Given the description of an element on the screen output the (x, y) to click on. 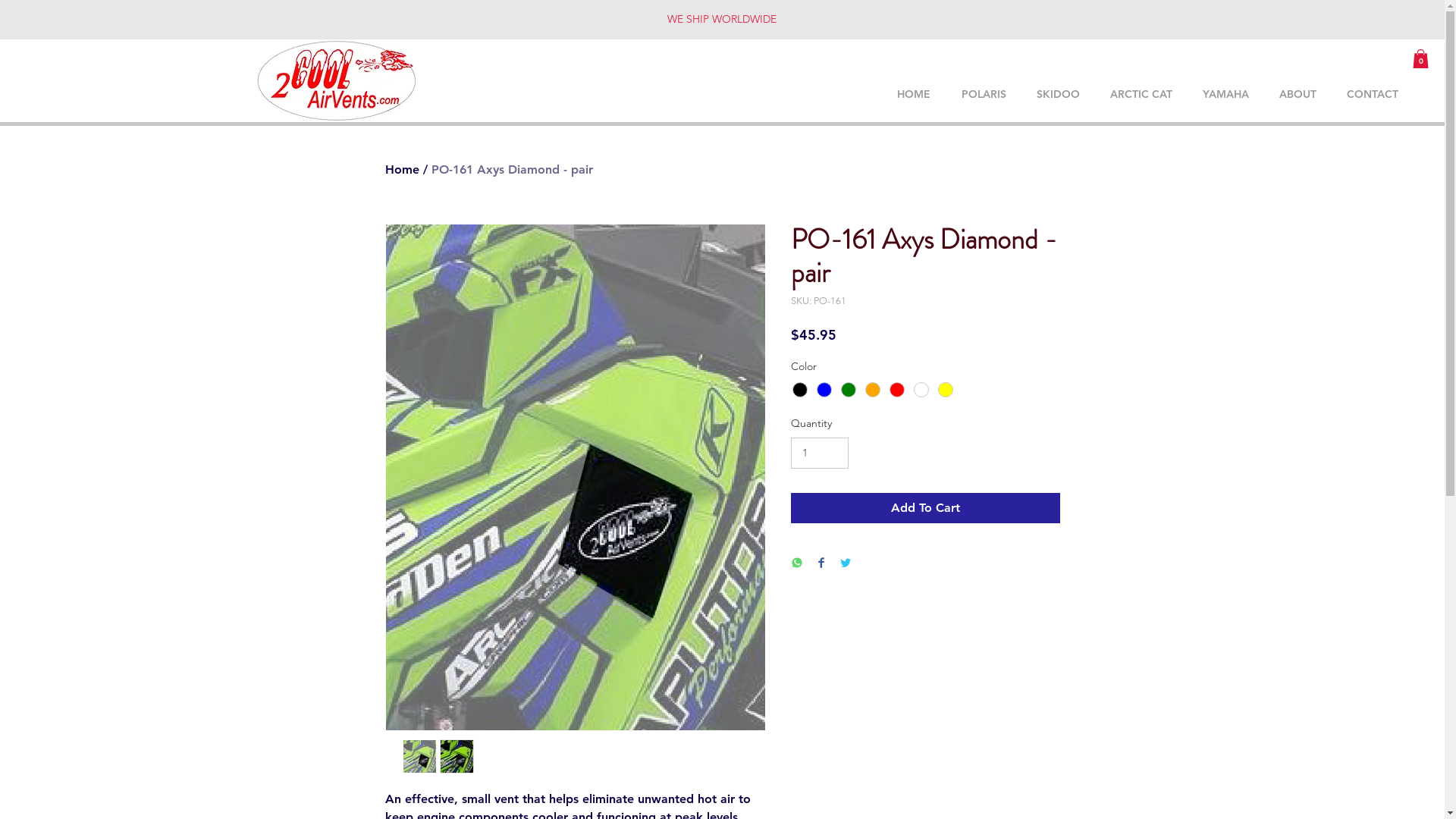
Home Element type: text (402, 169)
PO-161 Axys Diamond - pair Element type: text (511, 169)
WE SHIP WORLDWIDE Element type: text (721, 18)
ABOUT Element type: text (1297, 93)
SKIDOO Element type: text (1058, 93)
0 Element type: text (1420, 58)
YAMAHA Element type: text (1225, 93)
Facebook Like Element type: hover (1080, 27)
HOME Element type: text (913, 93)
Add To Cart Element type: text (924, 507)
POLARIS Element type: text (983, 93)
Site Search Element type: hover (1061, 63)
CONTACT Element type: text (1372, 93)
ARCTIC CAT Element type: text (1141, 93)
